Given the description of an element on the screen output the (x, y) to click on. 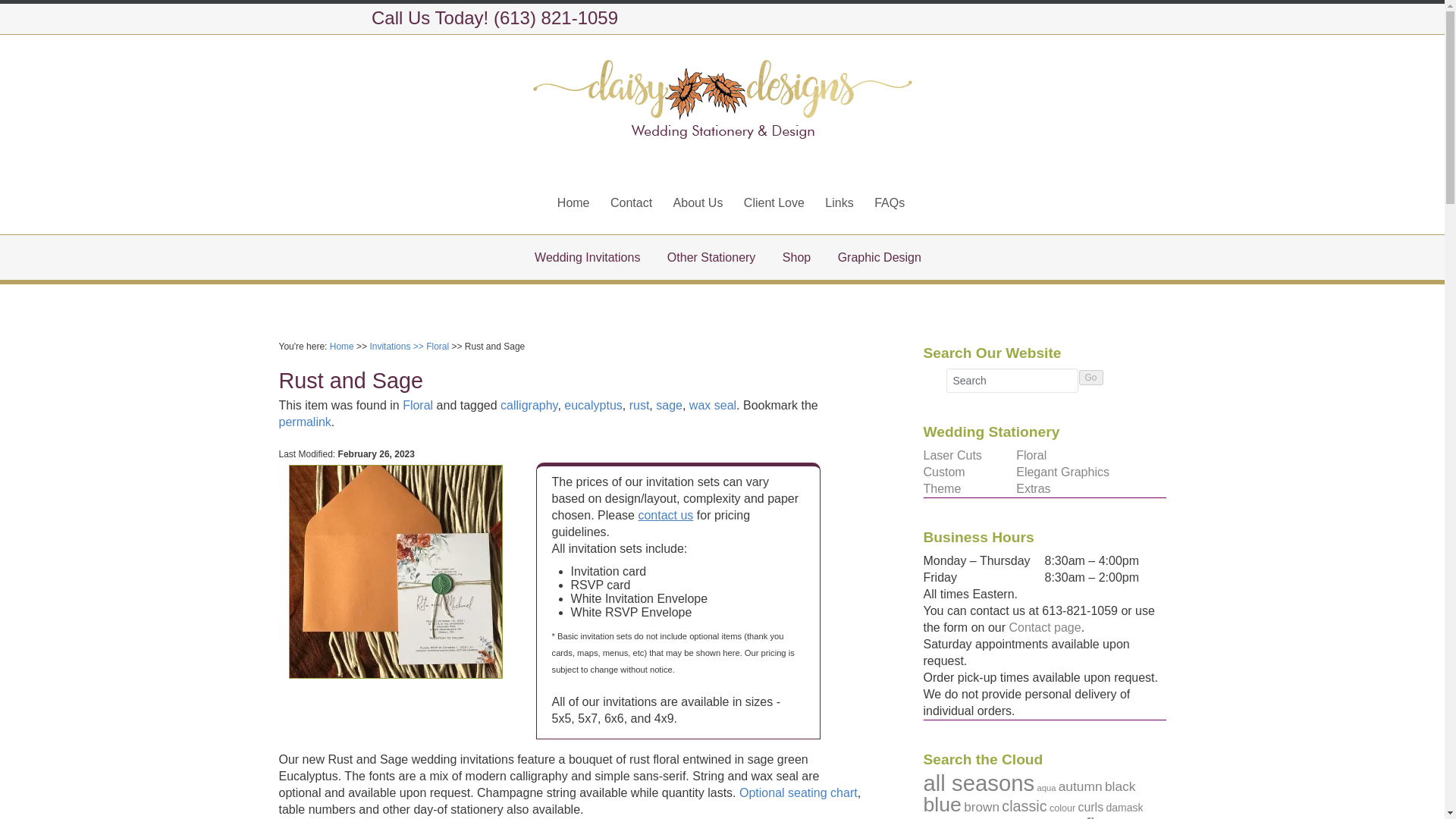
About Daisy Designs (697, 202)
Visit our Pinterest Board (955, 19)
Like us on Facebook (926, 19)
sage (669, 404)
About Us (697, 202)
Home (341, 346)
Floral (437, 346)
Wedding Invitations (587, 257)
rust (638, 404)
Review us on Wedding Wire (984, 19)
